Given the description of an element on the screen output the (x, y) to click on. 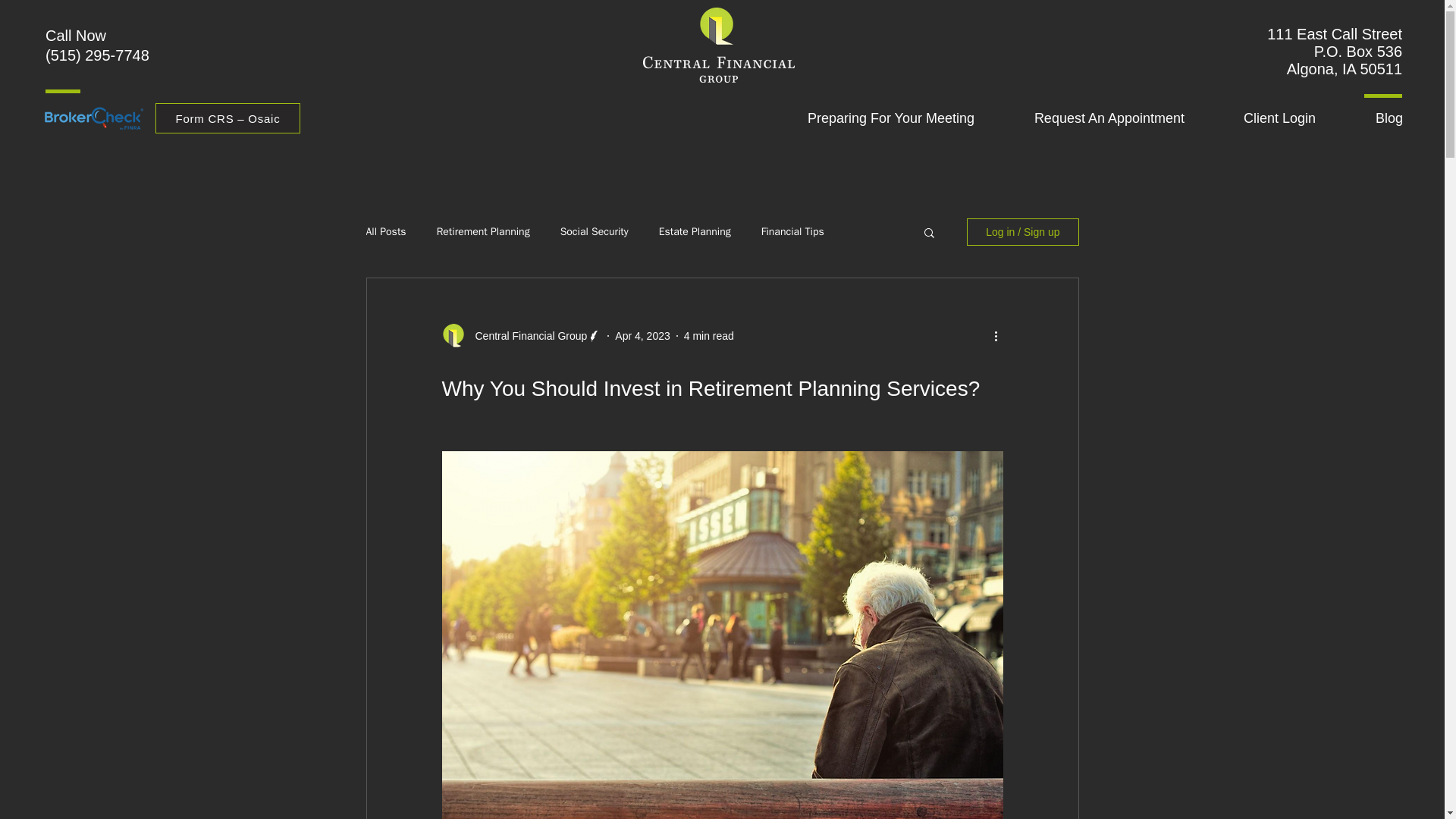
Social Security (594, 232)
Blog (1369, 118)
Financial Tips (792, 232)
Central Financial Group (525, 335)
Apr 4, 2023 (641, 335)
4 min read (708, 335)
Request An Appointment (1090, 118)
All Posts (385, 232)
Preparing For Your Meeting (872, 118)
Estate Planning (694, 232)
